Given the description of an element on the screen output the (x, y) to click on. 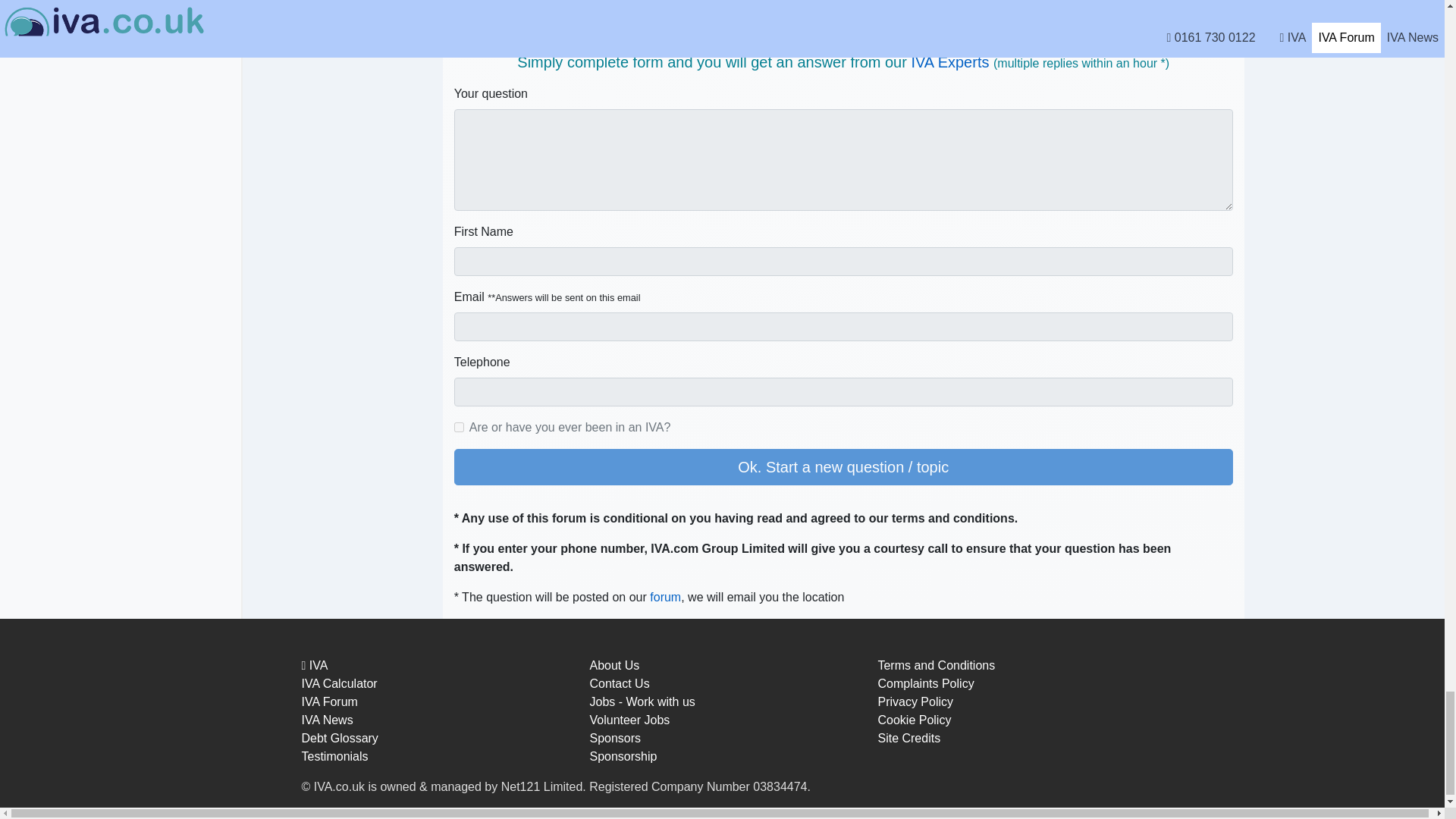
Yes (459, 427)
